Given the description of an element on the screen output the (x, y) to click on. 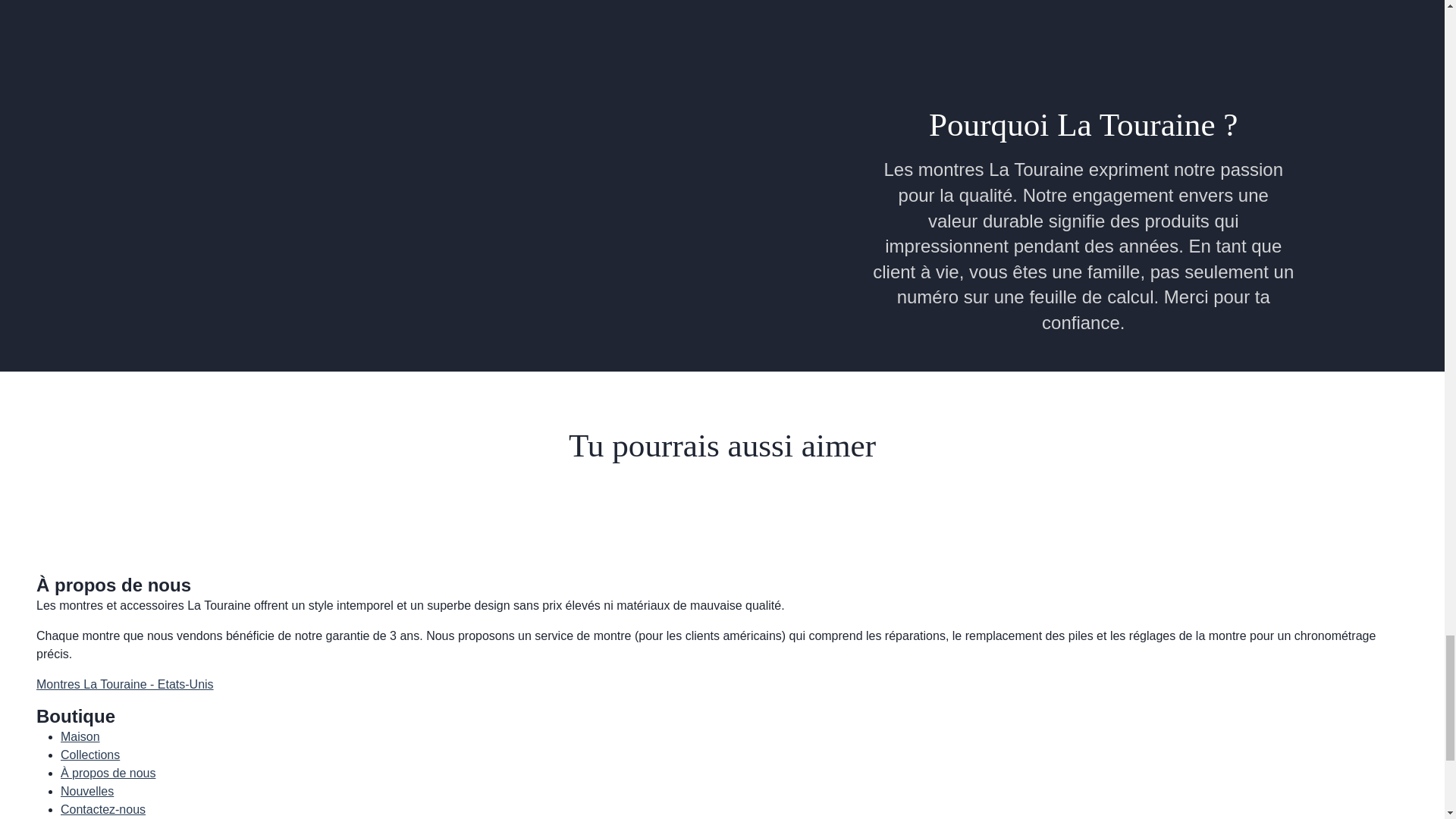
Montres La Touraine - Etats-Unis (125, 684)
